Given the description of an element on the screen output the (x, y) to click on. 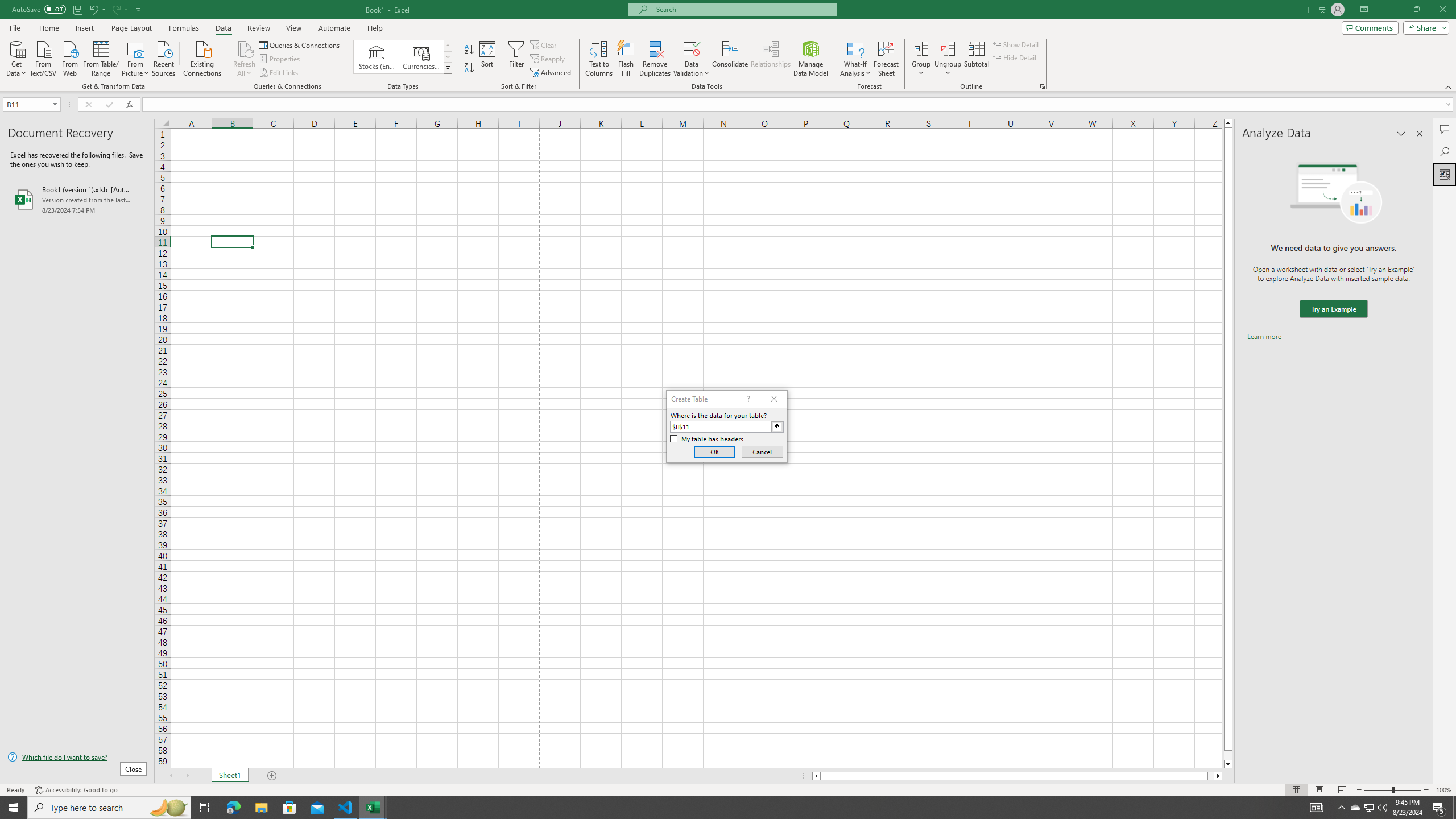
Accessibility Checker Accessibility: Good to go (76, 790)
Restore Down (1416, 9)
From Picture (135, 57)
Class: NetUIScrollBar (1016, 775)
Show Detail (1016, 44)
Undo (96, 9)
Group... (921, 48)
Analyze Data (1444, 173)
Help (374, 28)
Zoom In (1426, 790)
Book1 (version 1).xlsb  [AutoRecovered] (77, 199)
Existing Connections (202, 57)
Page right (1211, 775)
Normal (1296, 790)
Data Types (448, 67)
